Given the description of an element on the screen output the (x, y) to click on. 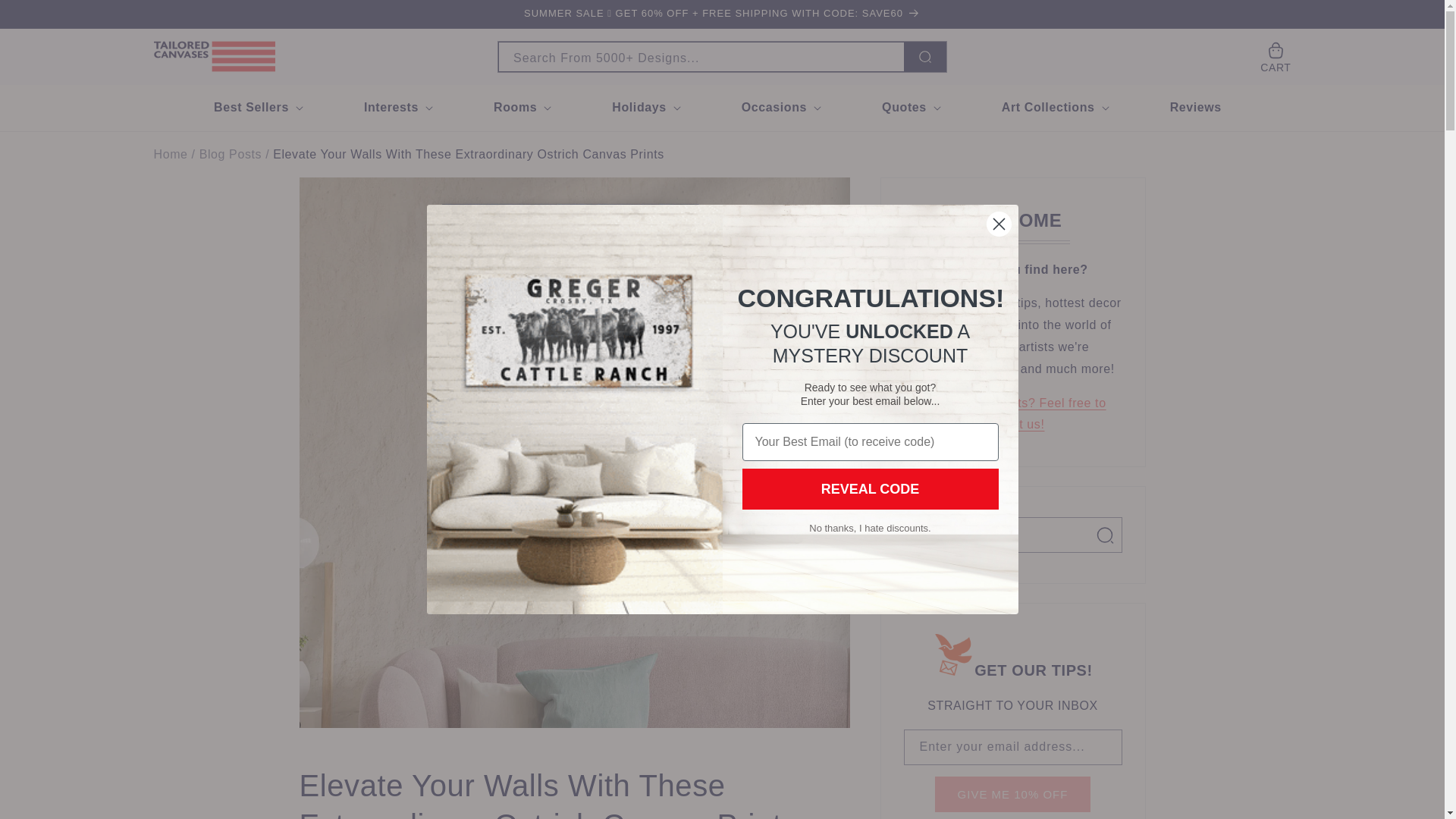
Close dialog 1 (998, 223)
Skip to content (45, 17)
